Given the description of an element on the screen output the (x, y) to click on. 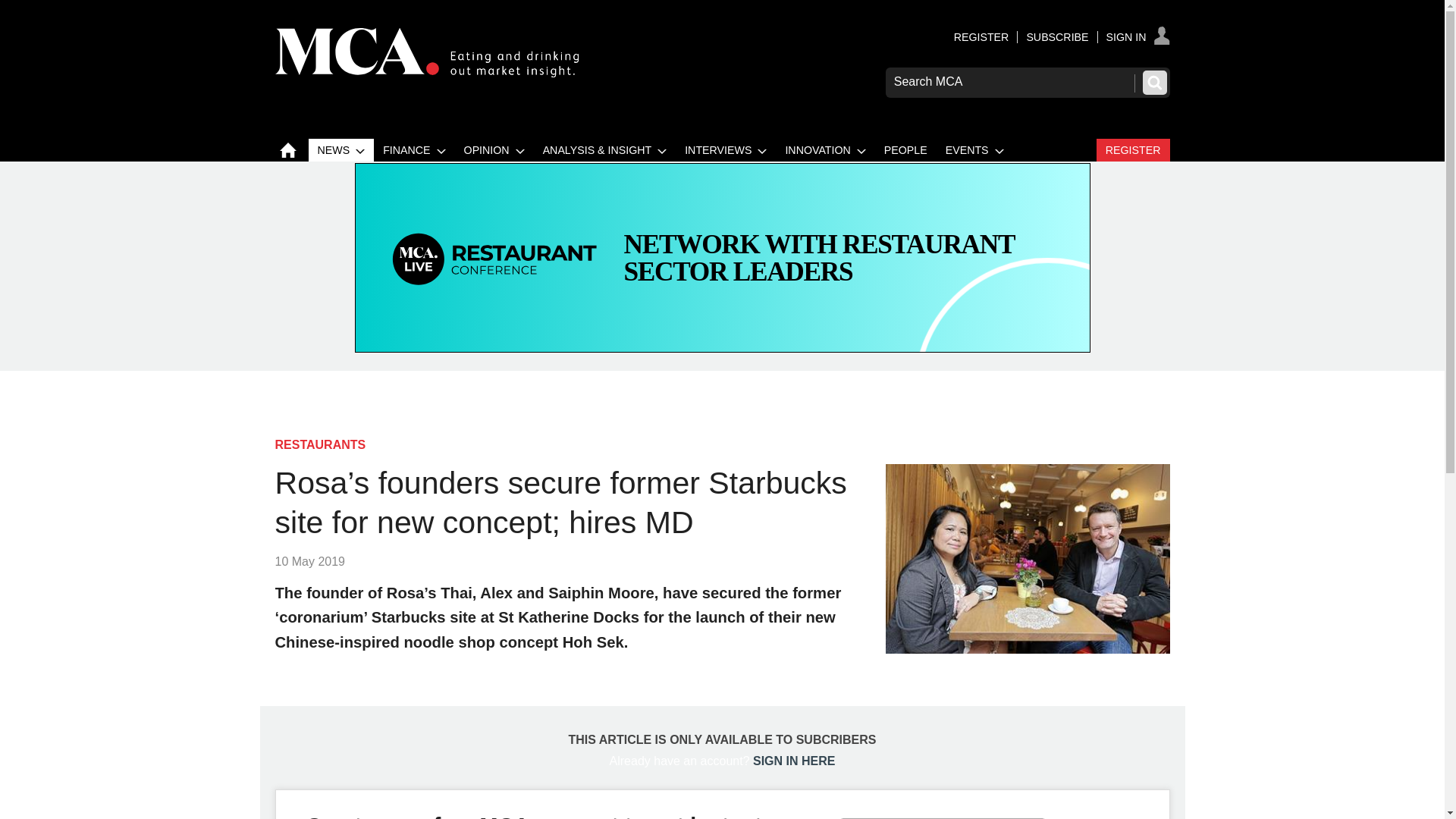
Search (1153, 82)
SIGN IN (1138, 37)
SUBSCRIBE (1056, 37)
Site name (426, 73)
653110 (722, 725)
REGISTER (981, 37)
